Given the description of an element on the screen output the (x, y) to click on. 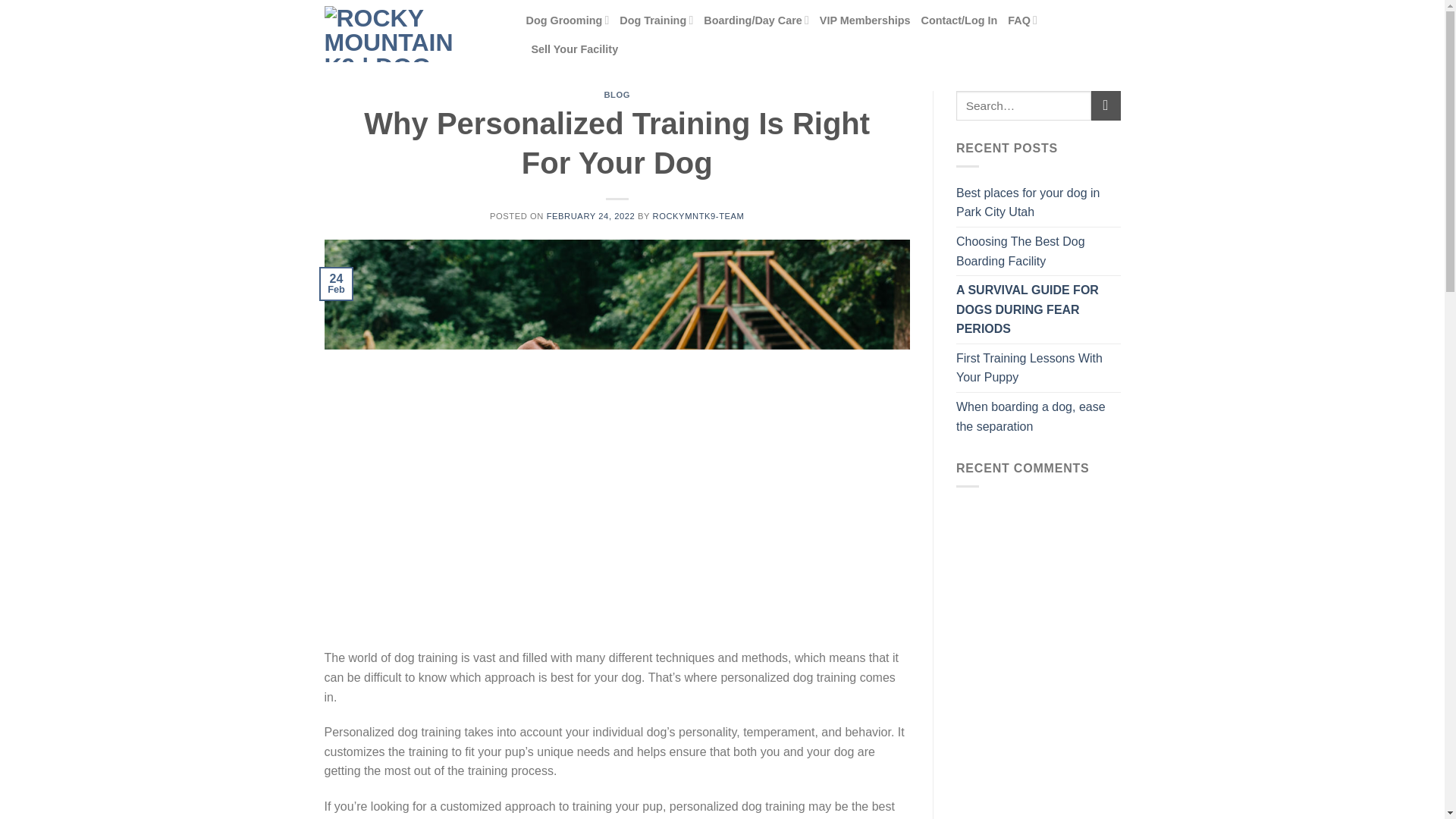
Dog Training (656, 19)
FAQ (1021, 19)
When boarding a dog, ease the separation (1038, 416)
Best places for your dog in Park City Utah (1038, 202)
FEBRUARY 24, 2022 (590, 215)
BLOG (617, 94)
A SURVIVAL GUIDE FOR DOGS DURING FEAR PERIODS (1038, 309)
ROCKYMNTK9-TEAM (698, 215)
Sell Your Facility (574, 49)
Choosing The Best Dog Boarding Facility (1038, 251)
